Given the description of an element on the screen output the (x, y) to click on. 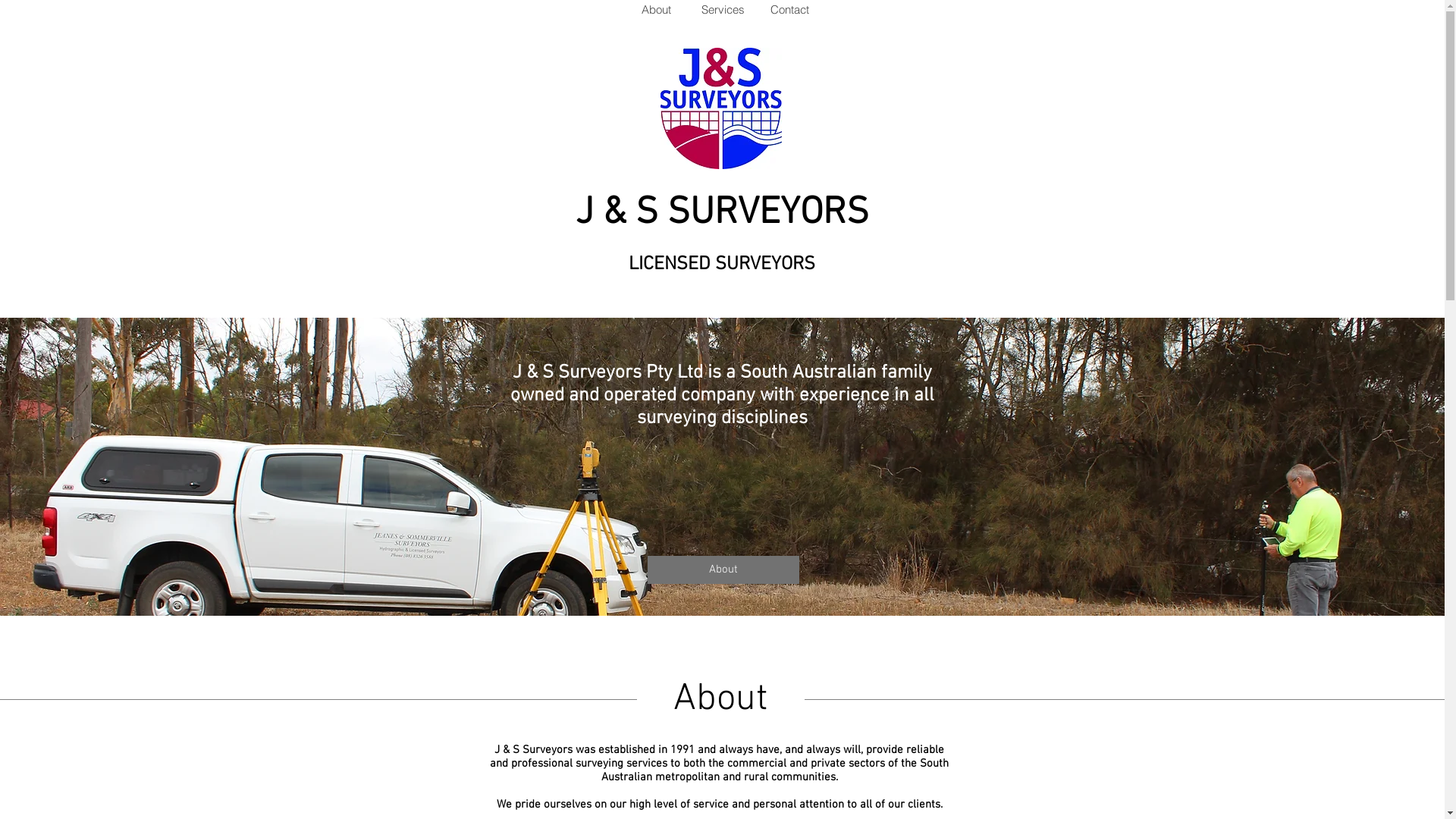
About Element type: text (654, 9)
J & S SURVEYORS Element type: text (721, 213)
Contact Element type: text (788, 9)
About Element type: text (723, 569)
Services Element type: text (721, 9)
